Given the description of an element on the screen output the (x, y) to click on. 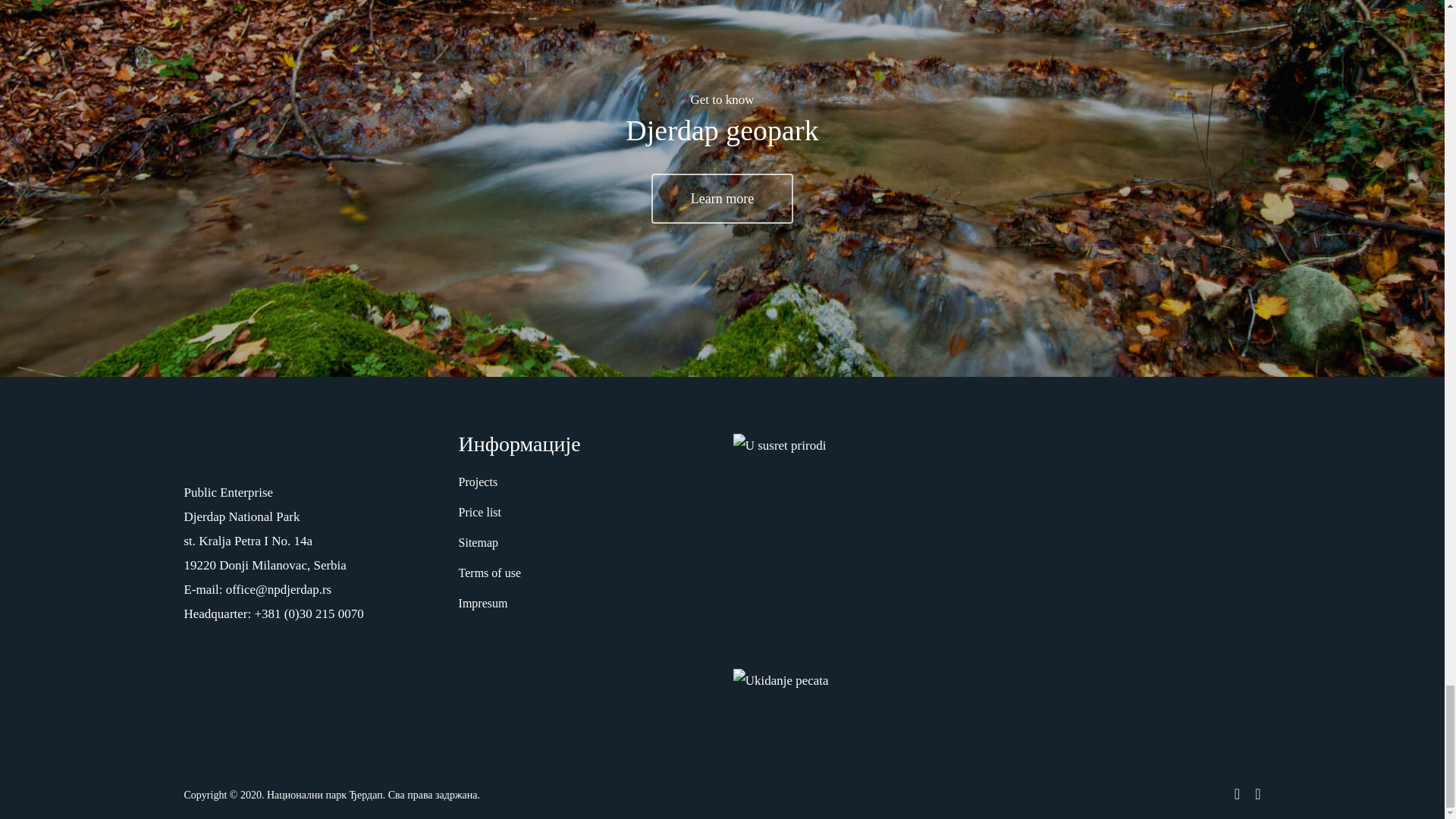
Terms of use (584, 573)
Projects (584, 482)
Learn more (721, 198)
Impresum (584, 603)
Sitemap (584, 542)
Price list (584, 512)
